Given the description of an element on the screen output the (x, y) to click on. 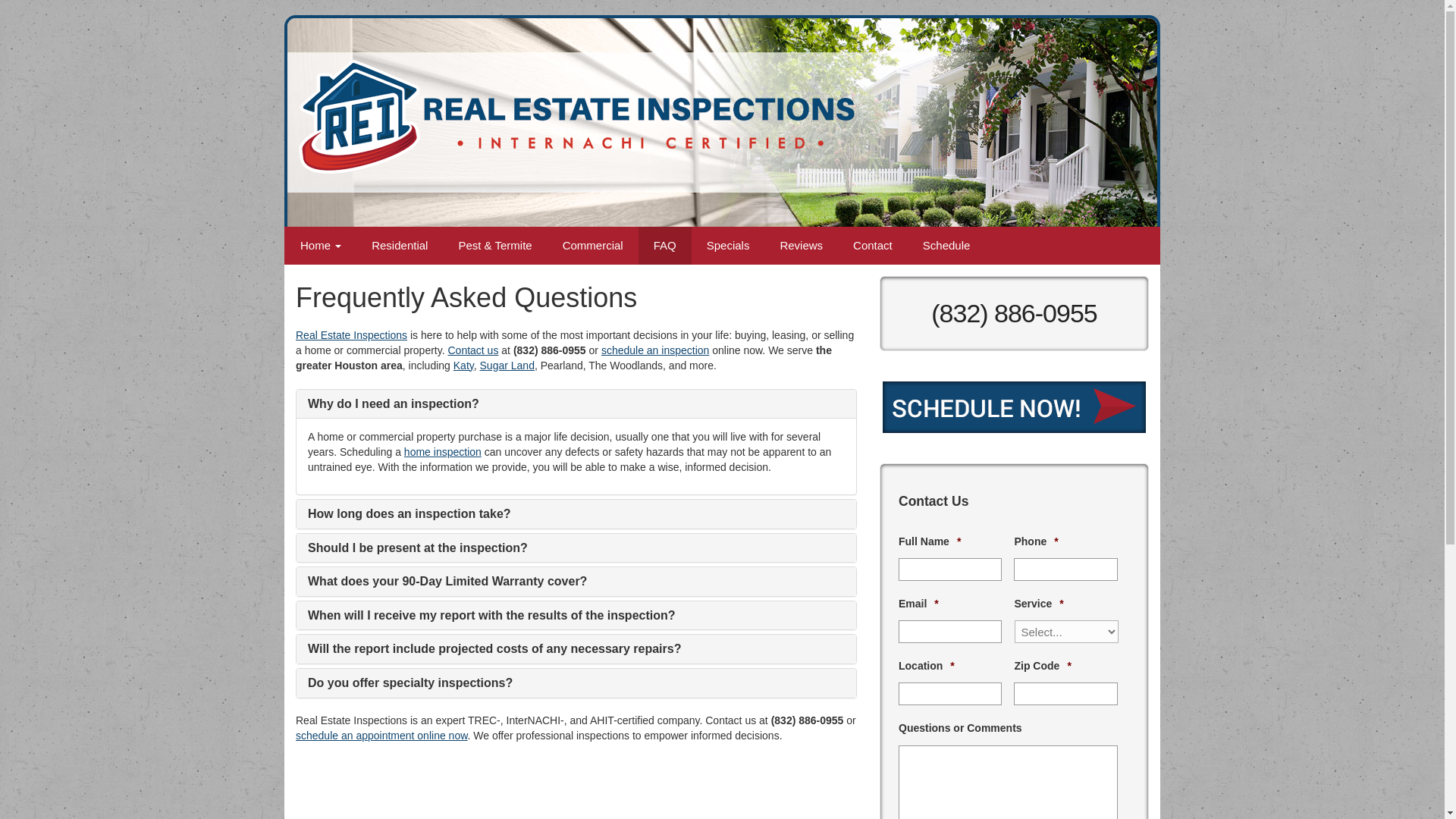
Frequently Asked Questions (665, 245)
Termite Inspections (494, 245)
Residential (399, 245)
Home (320, 245)
Customer Reviews (801, 245)
Specials (728, 245)
Contact Us (872, 245)
Home Inspections (399, 245)
Schedule (946, 245)
Reviews (801, 245)
Real Estate Inspections (351, 335)
FAQ (665, 245)
Contact (872, 245)
Current Specials (728, 245)
Commercial (593, 245)
